Given the description of an element on the screen output the (x, y) to click on. 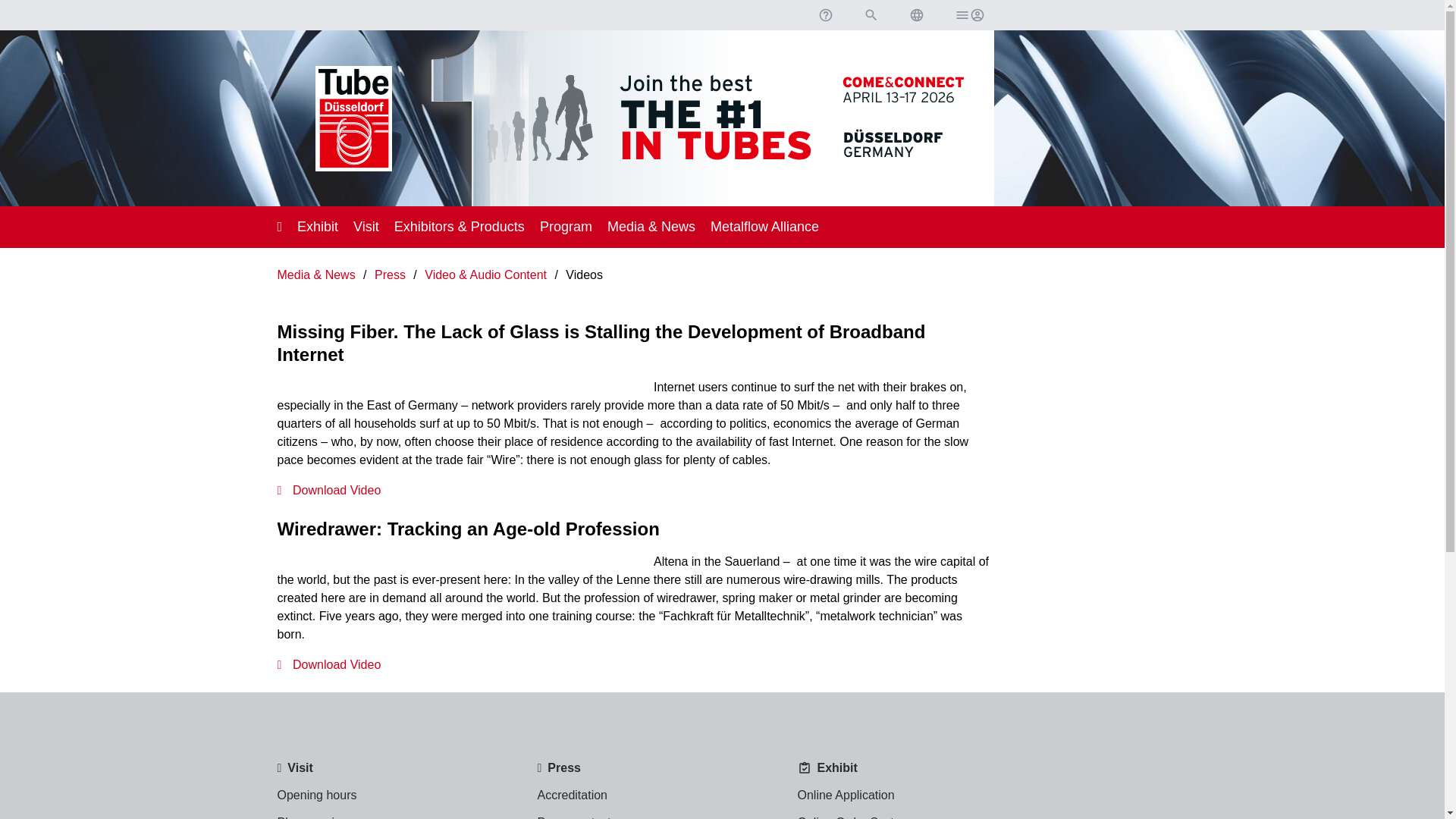
Search (870, 14)
Login (968, 14)
Support (824, 14)
English (915, 14)
